Given the description of an element on the screen output the (x, y) to click on. 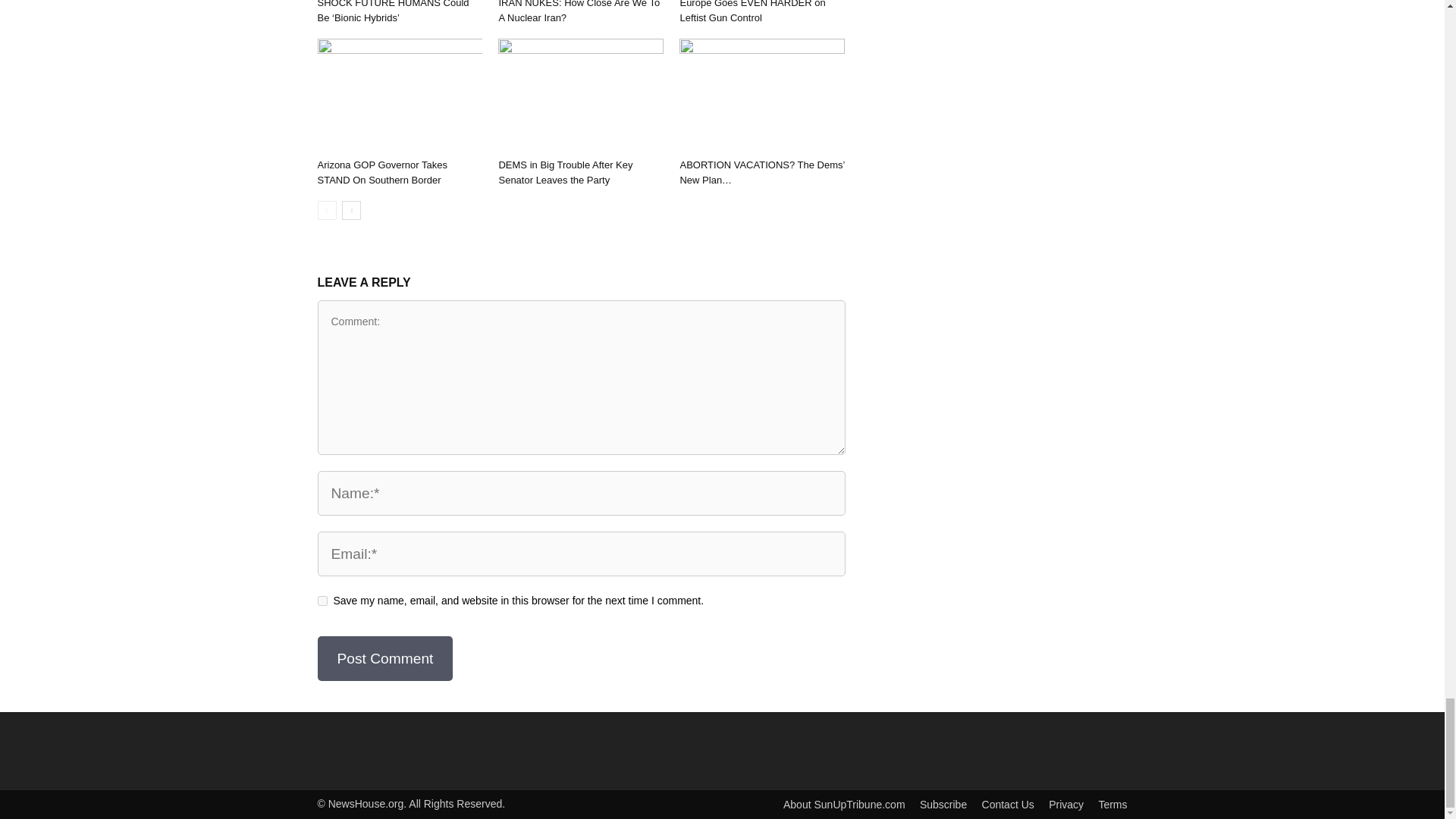
IRAN NUKES: How Close Are We To A Nuclear Iran? (578, 11)
yes (321, 601)
Post Comment (384, 658)
